Given the description of an element on the screen output the (x, y) to click on. 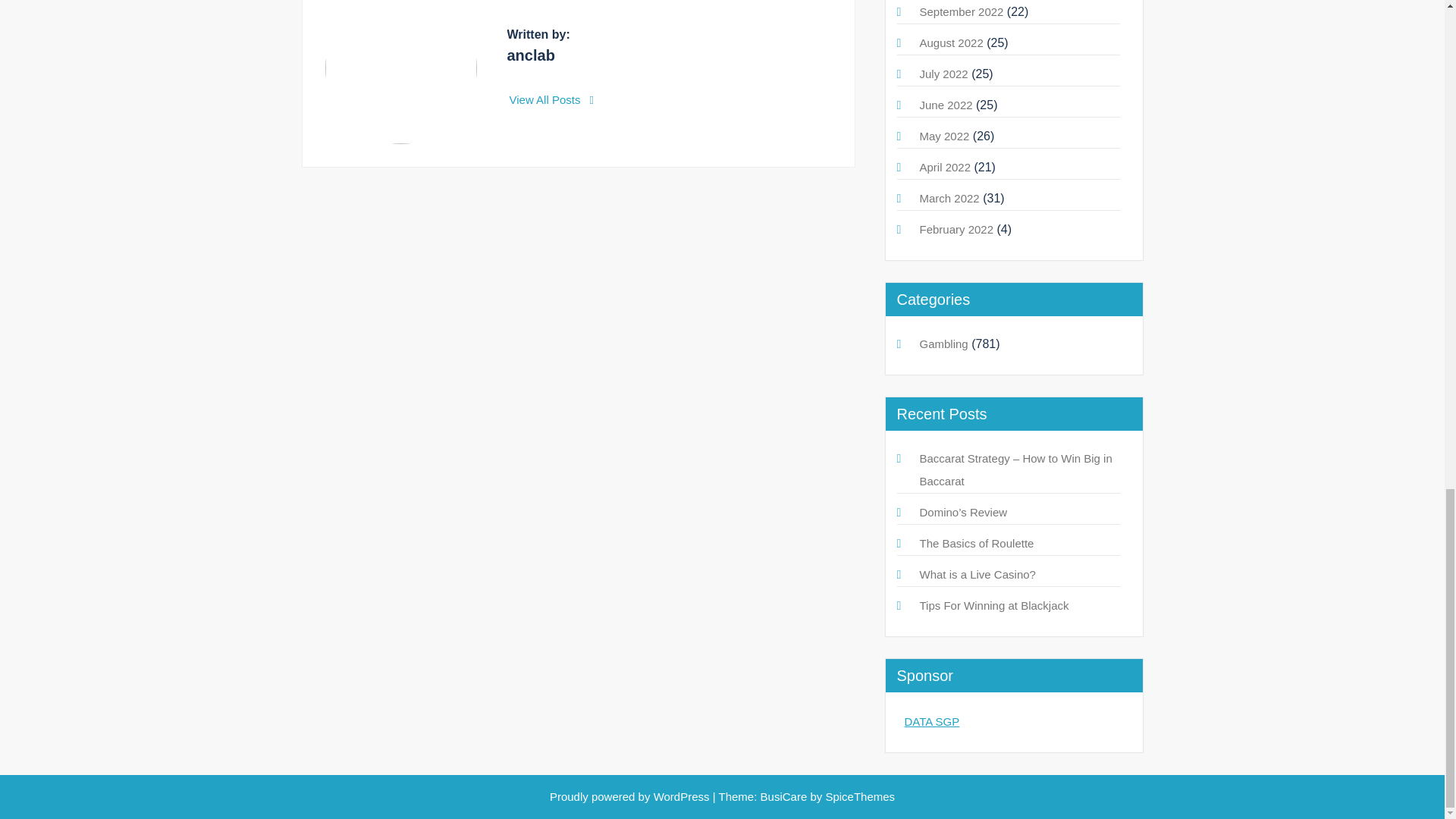
June 2022 (945, 104)
September 2022 (960, 11)
View All Posts (551, 99)
July 2022 (943, 73)
May 2022 (943, 135)
August 2022 (950, 42)
